Given the description of an element on the screen output the (x, y) to click on. 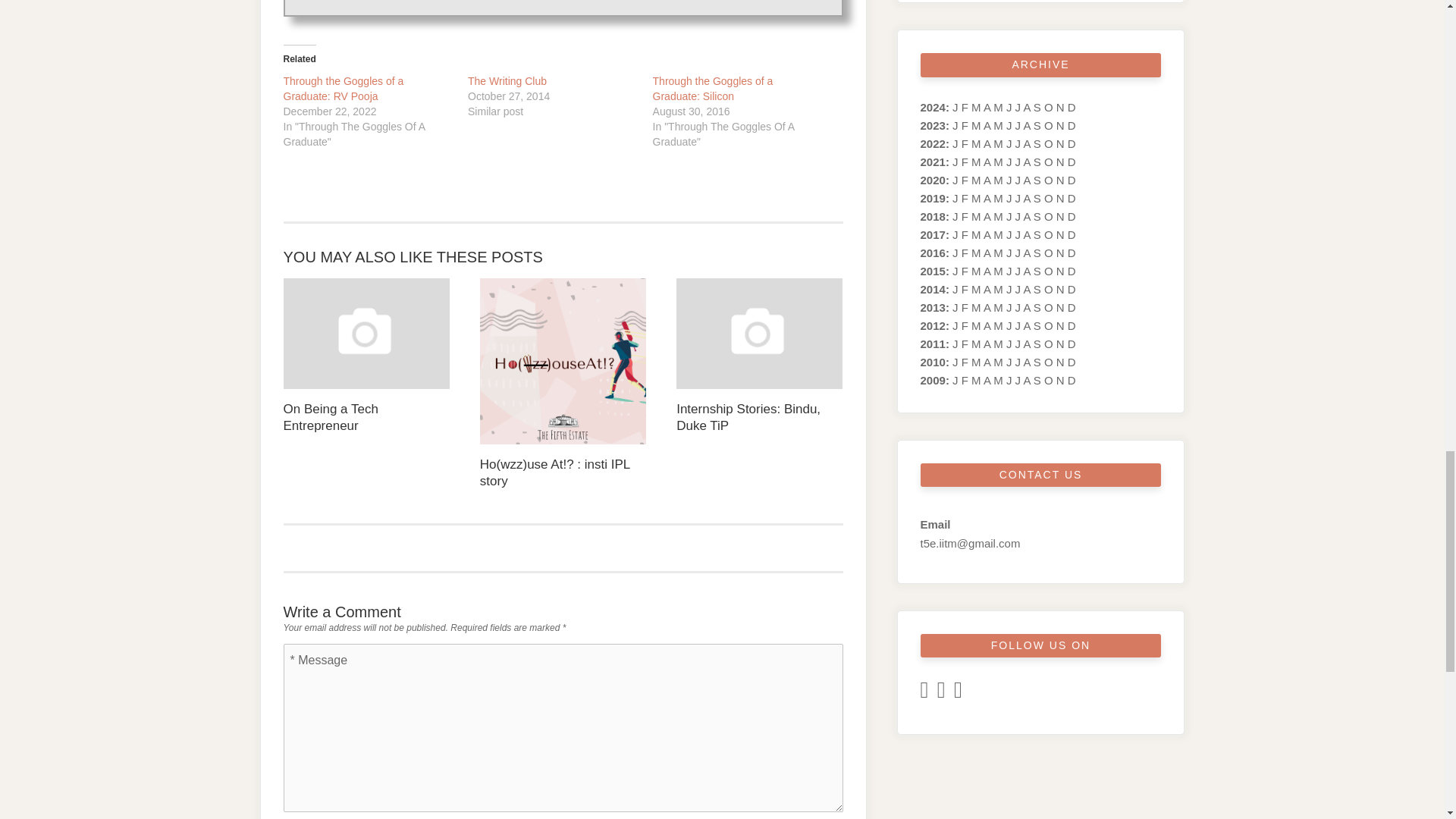
Through the Goggles of a Graduate: RV Pooja (343, 88)
Internship Stories: Bindu, Duke TiP (760, 356)
Through the Goggles of a Graduate: Silicon (712, 88)
On Being a Tech Entrepreneur (366, 356)
On Being a Tech Entrepreneur (366, 356)
Internship Stories: Bindu, Duke TiP (760, 356)
The Writing Club (507, 80)
The Writing Club (507, 80)
Through the Goggles of a Graduate: RV Pooja (343, 88)
Through the Goggles of a Graduate: Silicon (712, 88)
